Given the description of an element on the screen output the (x, y) to click on. 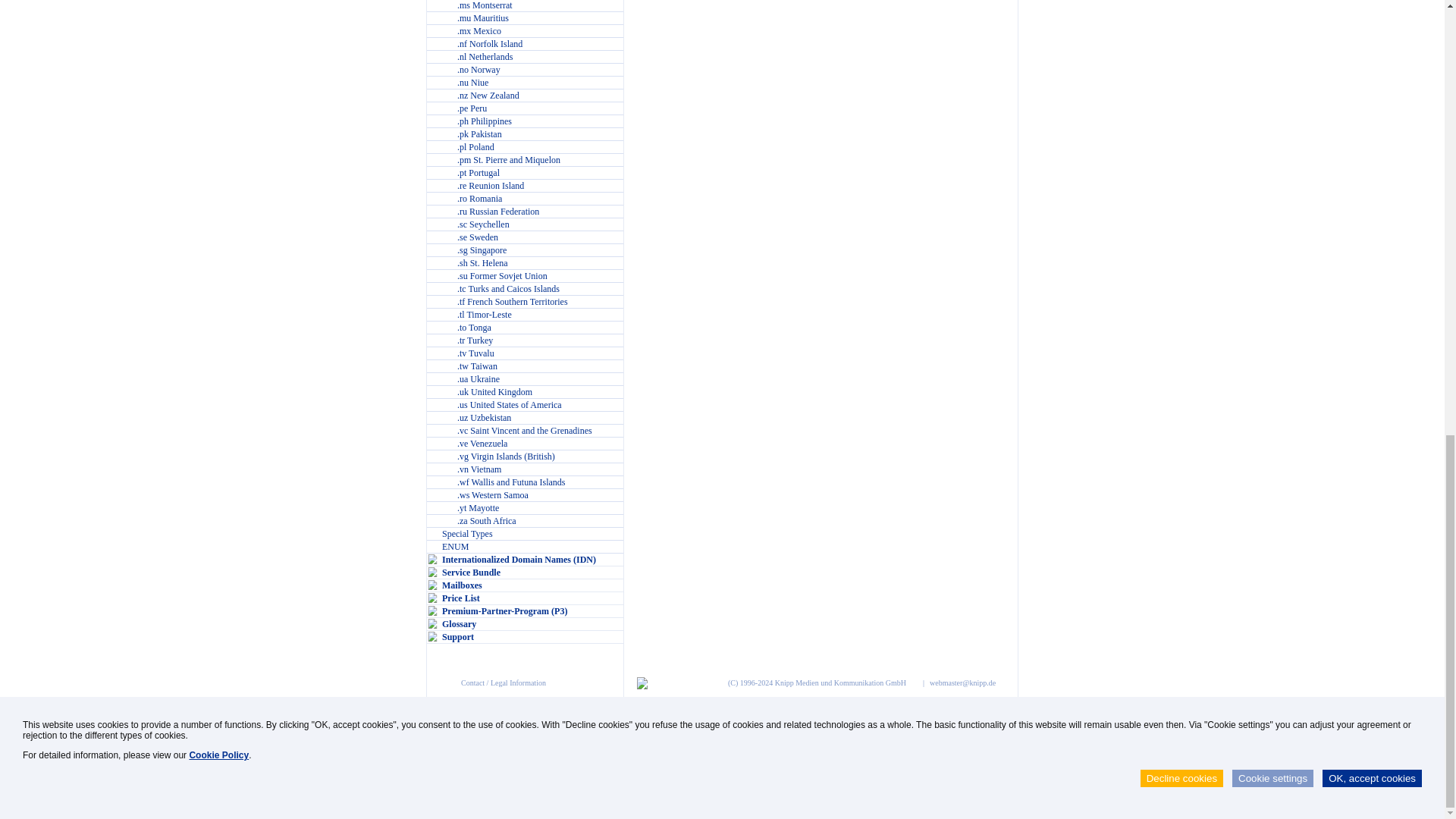
print (641, 682)
